Given the description of an element on the screen output the (x, y) to click on. 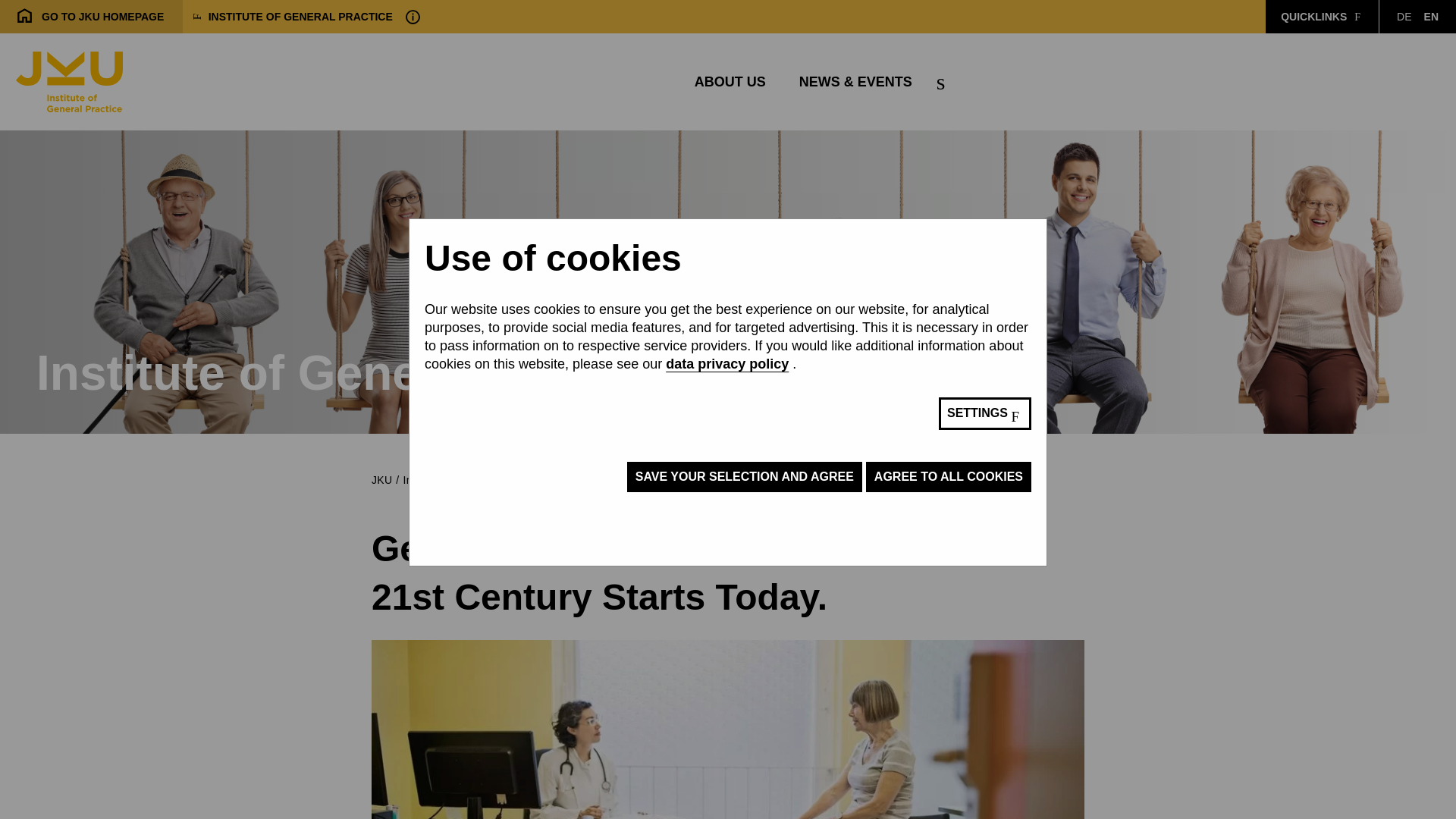
QUICKLINKS (1403, 16)
GO TO JKU HOMEPAGE (1431, 16)
